Given the description of an element on the screen output the (x, y) to click on. 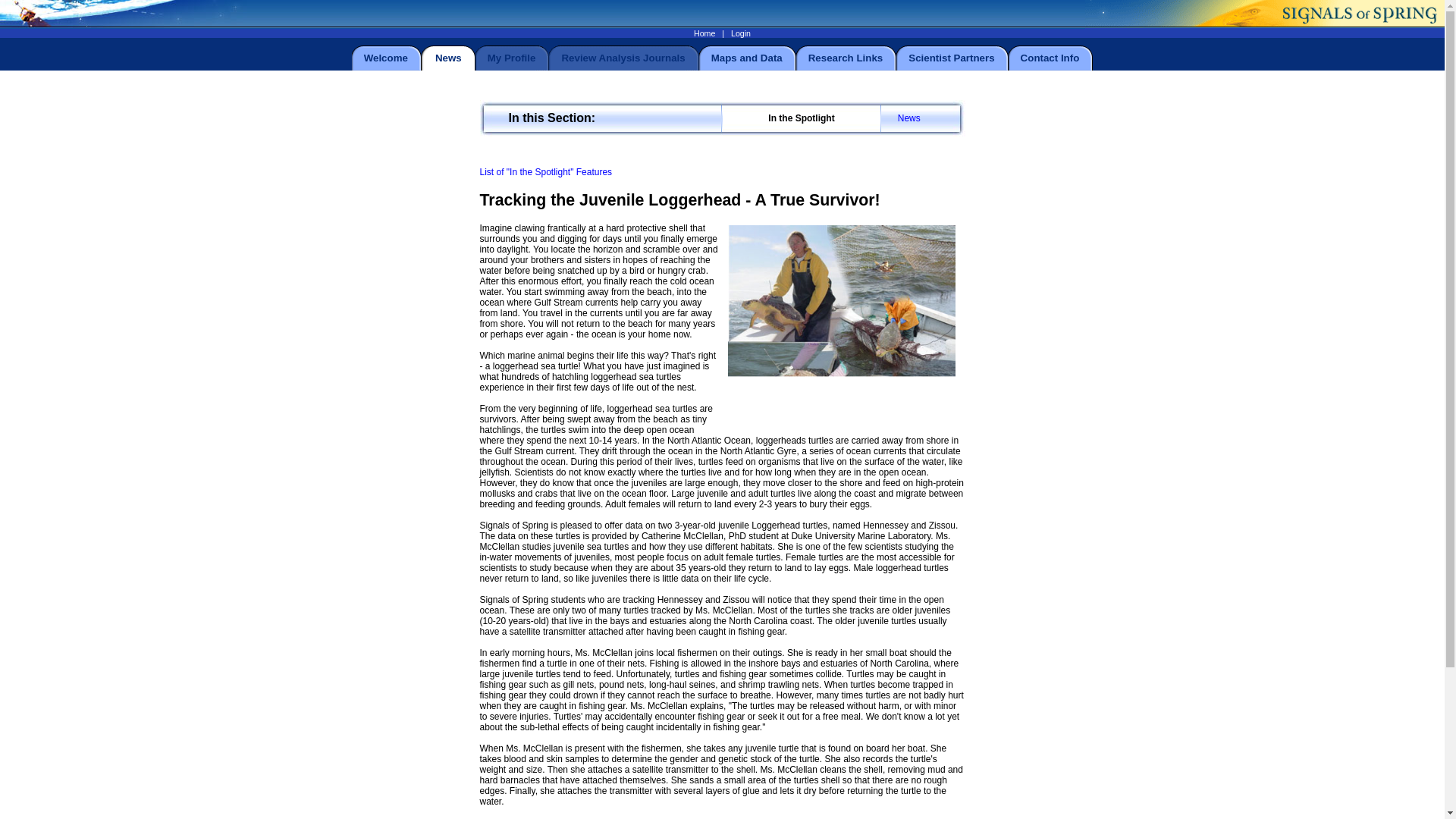
Home (704, 32)
News (909, 118)
My Profile (511, 57)
Research Links (845, 57)
Contact Info (1050, 57)
List of "In the Spotlight" Features (545, 172)
Maps and Data (747, 57)
Welcome (385, 57)
Scientist Partners (951, 57)
Login (740, 32)
Review Analysis Journals (622, 57)
